Given the description of an element on the screen output the (x, y) to click on. 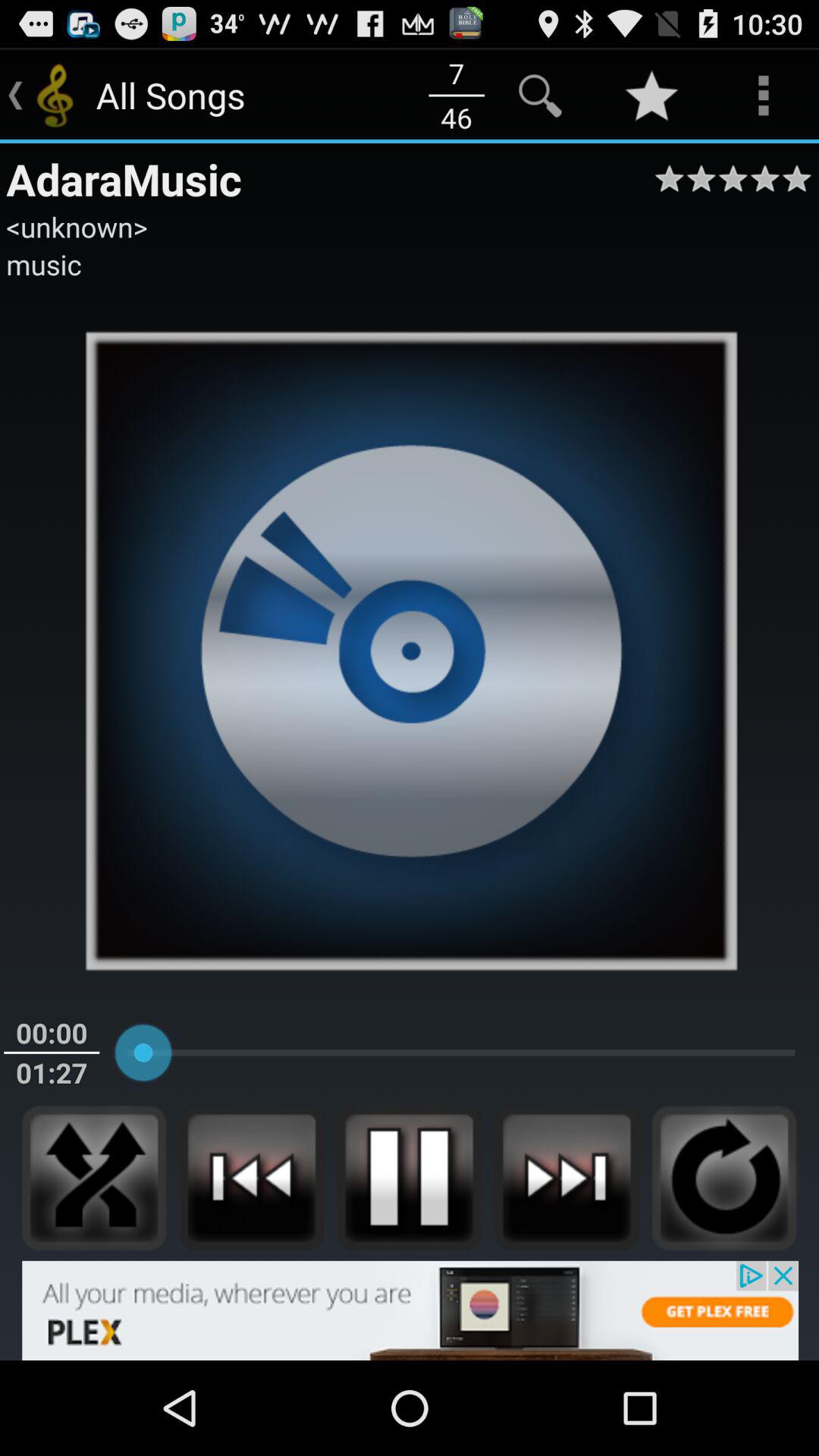
advance song (566, 1177)
